Given the description of an element on the screen output the (x, y) to click on. 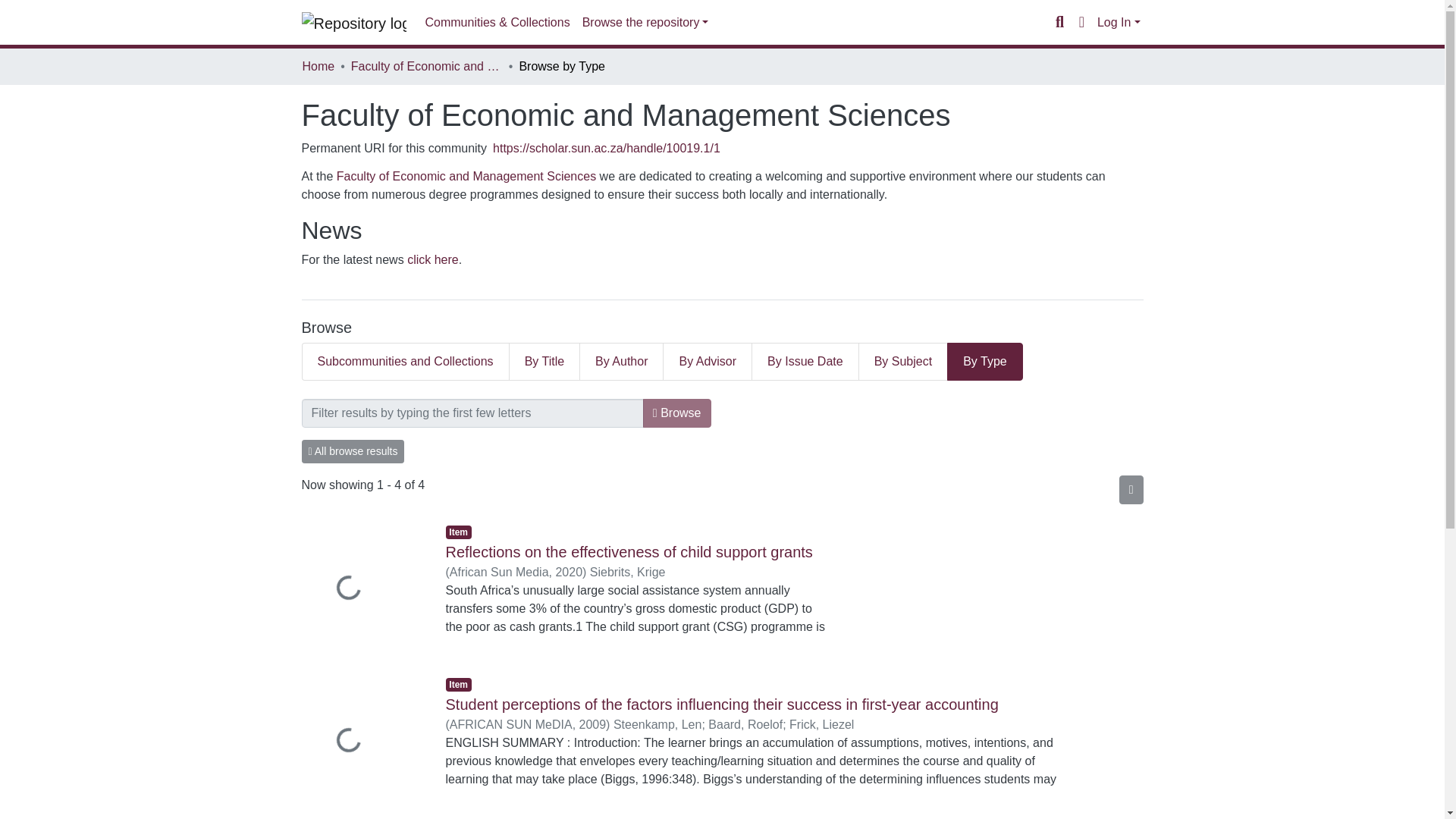
By Type (985, 361)
Home (317, 66)
click here (432, 259)
Subcommunities and Collections (405, 361)
All browse results (352, 451)
Browse (677, 412)
By Subject (903, 361)
By Author (621, 361)
Log In (1118, 21)
Browse the repository (645, 22)
Faculty of Economic and Management Sciences (465, 175)
Pagination options (1130, 489)
By Issue Date (805, 361)
Faculty of Economic and Management Sciences (426, 66)
By Title (544, 361)
